Given the description of an element on the screen output the (x, y) to click on. 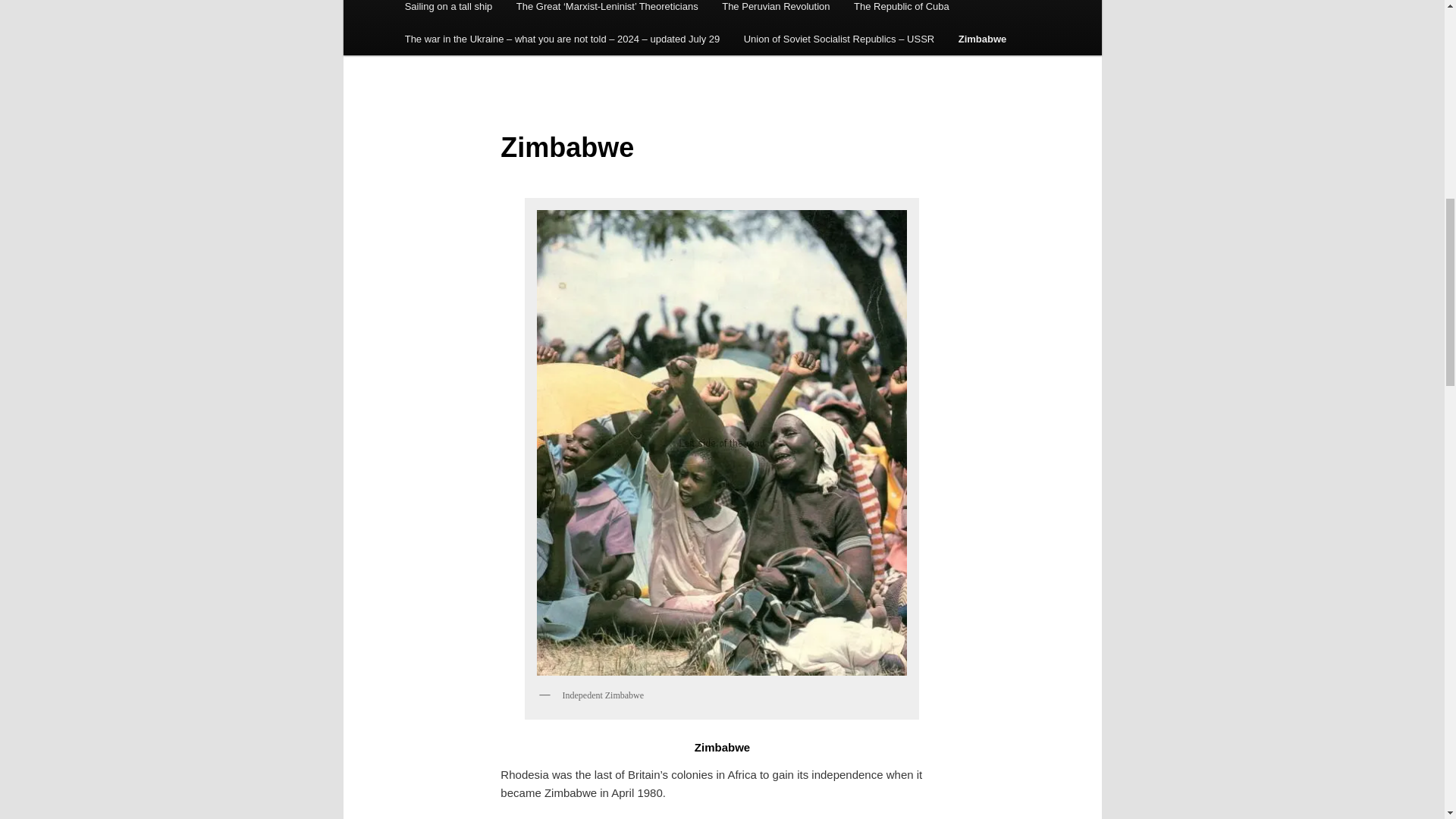
The Peruvian Revolution (775, 11)
The Republic of Cuba (900, 11)
Zimbabwe (981, 38)
Sailing on a tall ship (448, 11)
